Given the description of an element on the screen output the (x, y) to click on. 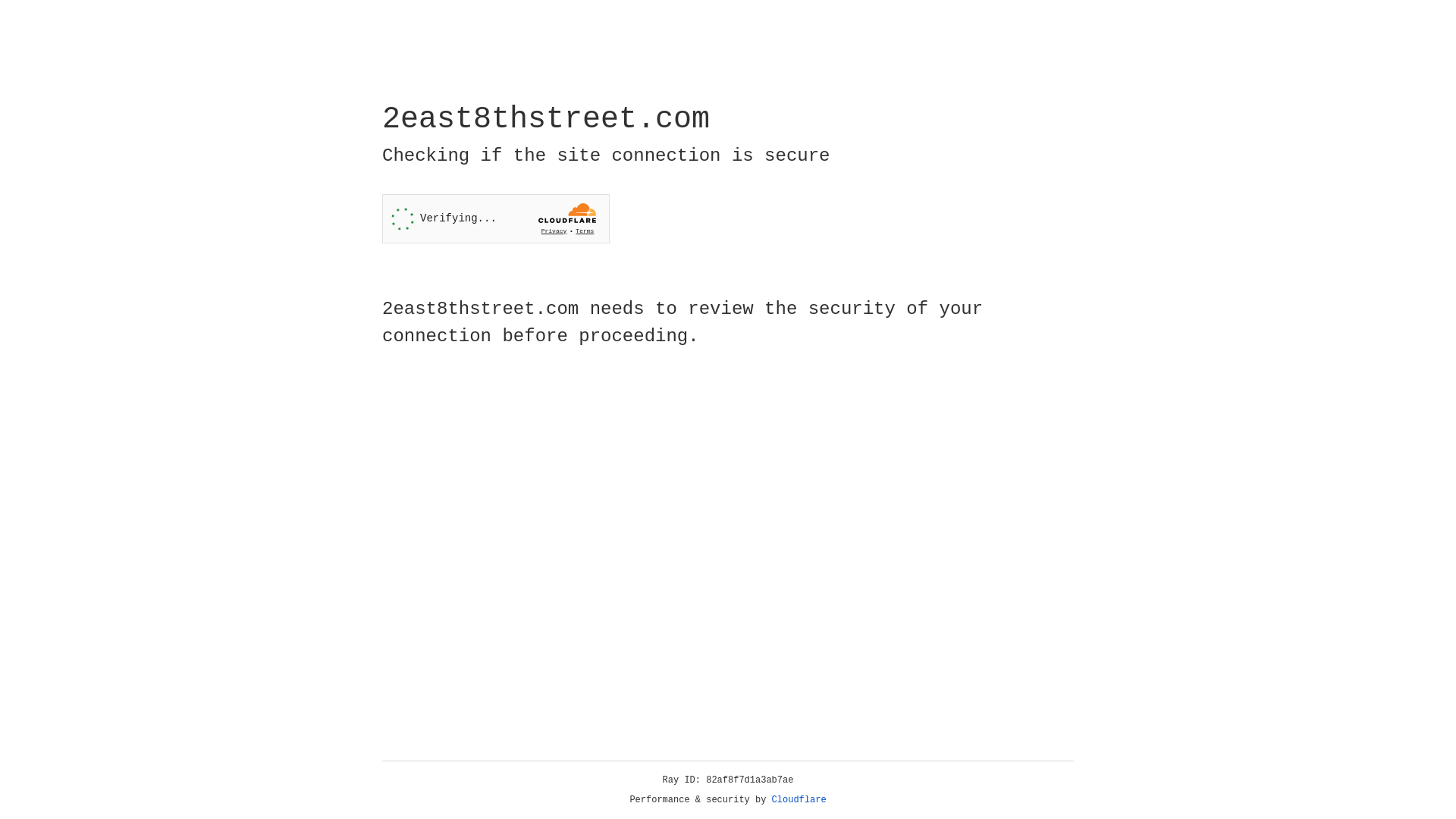
Widget containing a Cloudflare security challenge Element type: hover (495, 218)
Cloudflare Element type: text (798, 799)
